Given the description of an element on the screen output the (x, y) to click on. 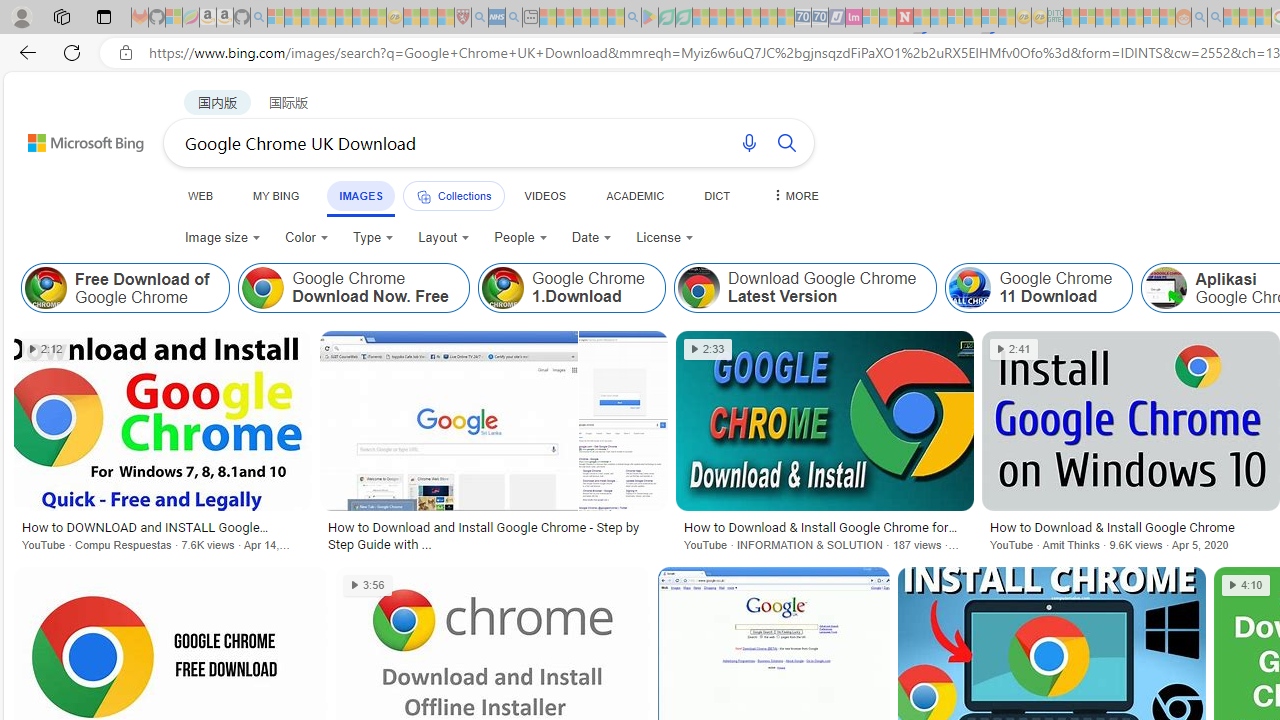
How to Download & Install Google Chrome (1130, 527)
MY BING (276, 195)
Date (591, 237)
People (521, 237)
